Given the description of an element on the screen output the (x, y) to click on. 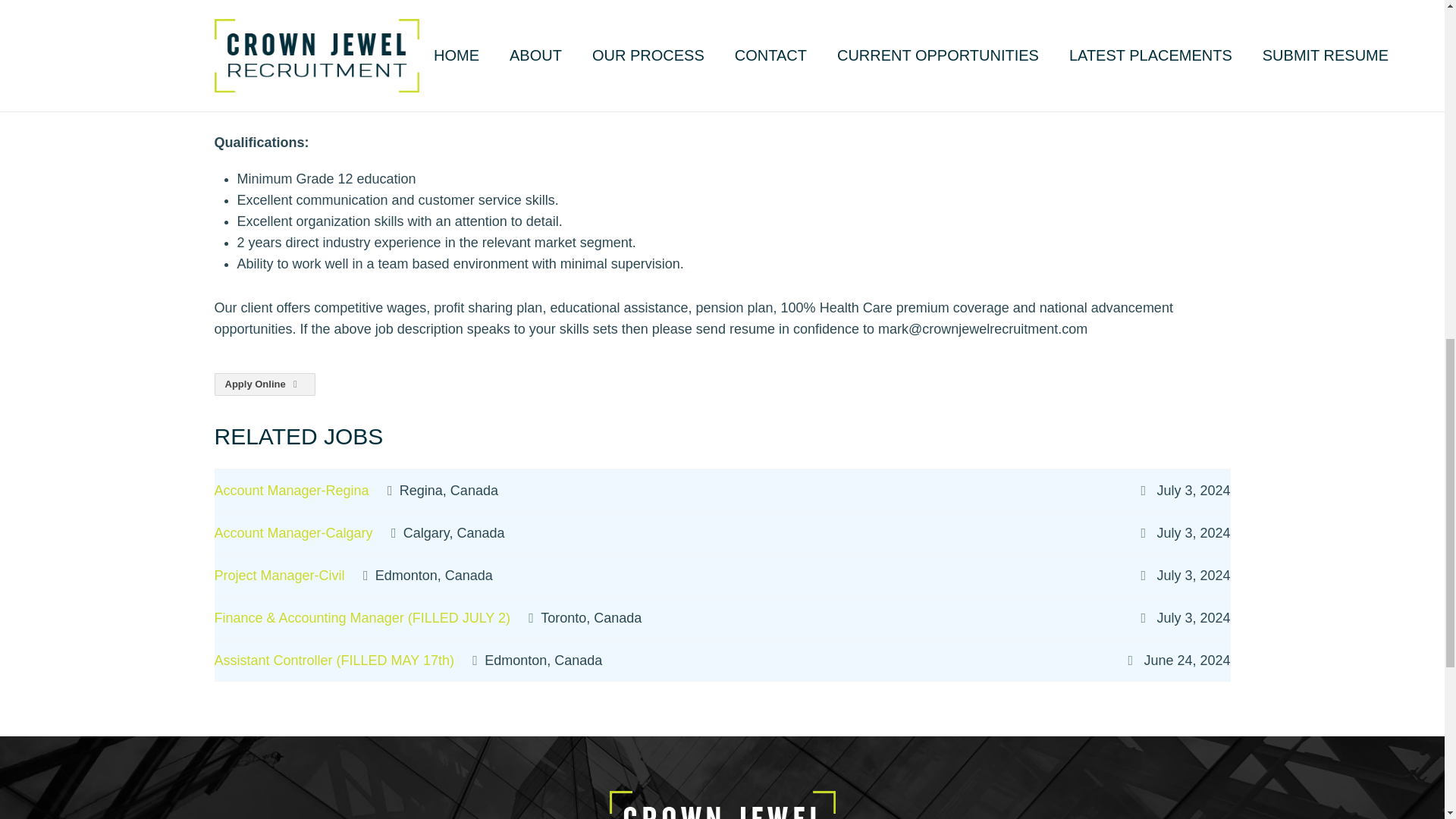
Apply Online   (264, 384)
Account Manager-Calgary (293, 531)
Project Manager-Civil (278, 574)
Back to top (1413, 26)
Account Manager-Regina (291, 489)
